Given the description of an element on the screen output the (x, y) to click on. 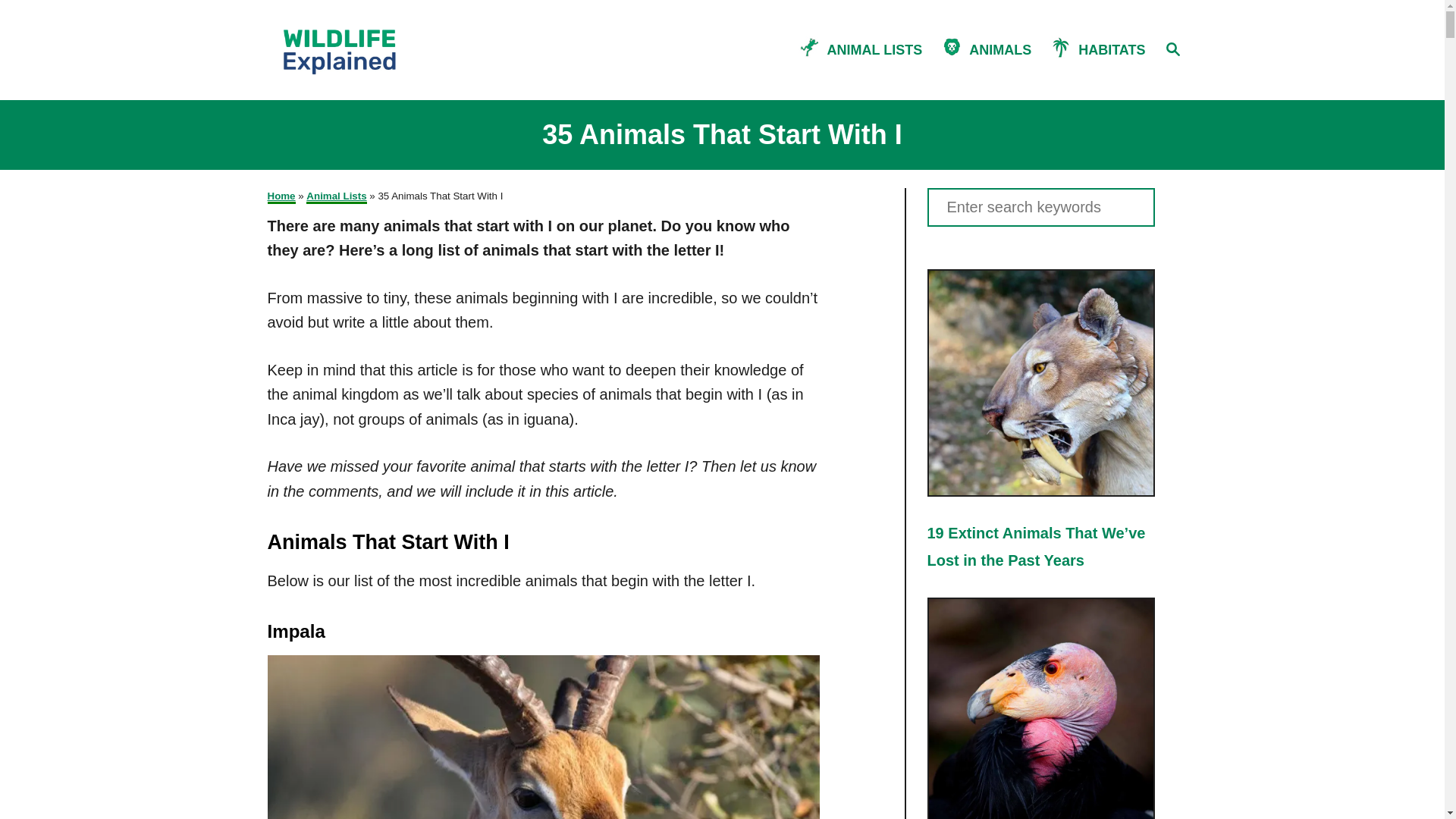
Magnifying Glass (1171, 48)
Search for: (1040, 207)
Animal Lists (335, 196)
ANIMAL LISTS (878, 49)
Wildlife Explained (371, 49)
HABITATS (1106, 49)
ANIMALS (1004, 49)
Home (280, 196)
